Given the description of an element on the screen output the (x, y) to click on. 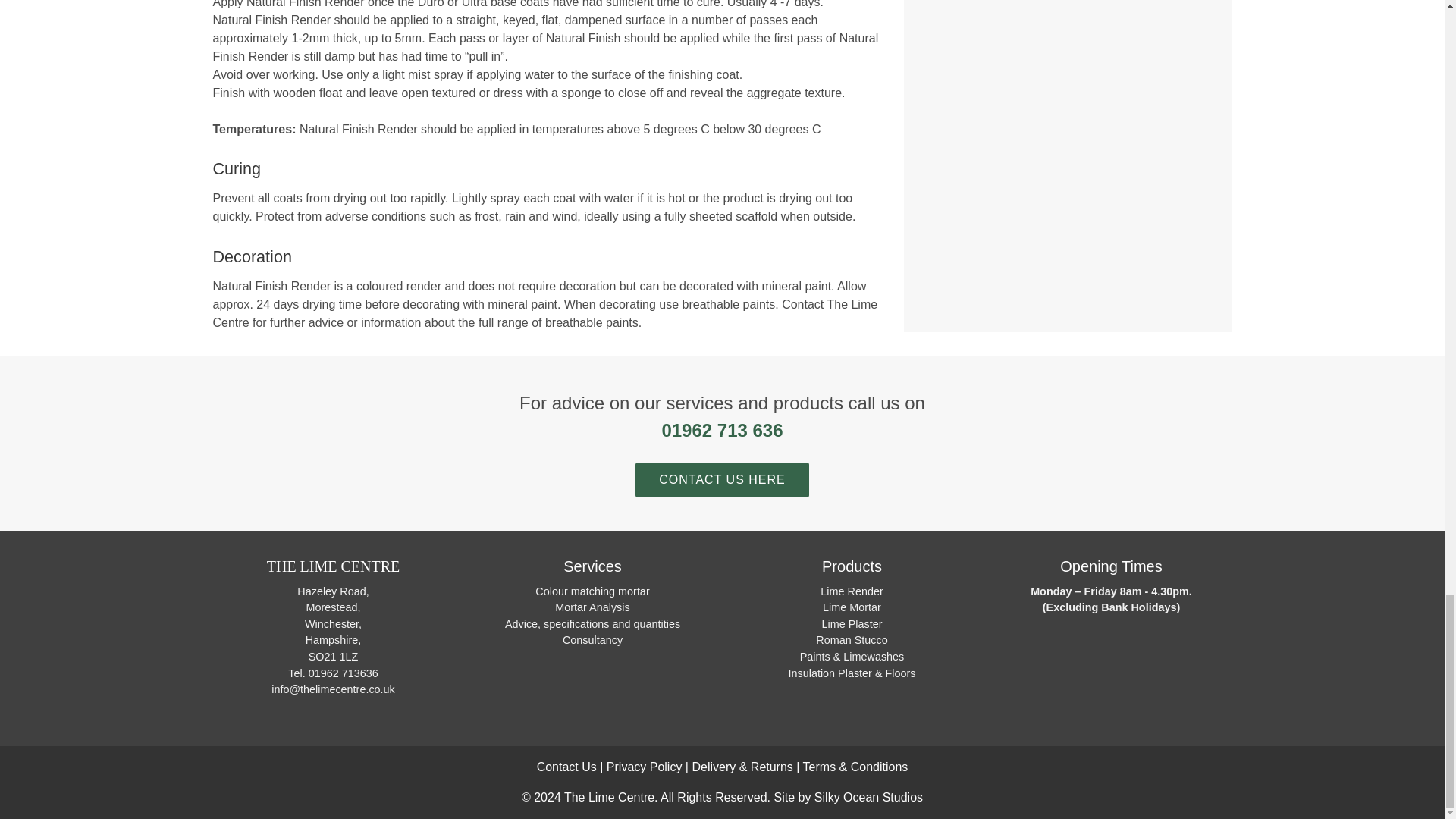
CONTACT US HERE (721, 479)
01962 713 636 (722, 430)
CONTACT US HERE (721, 471)
